Given the description of an element on the screen output the (x, y) to click on. 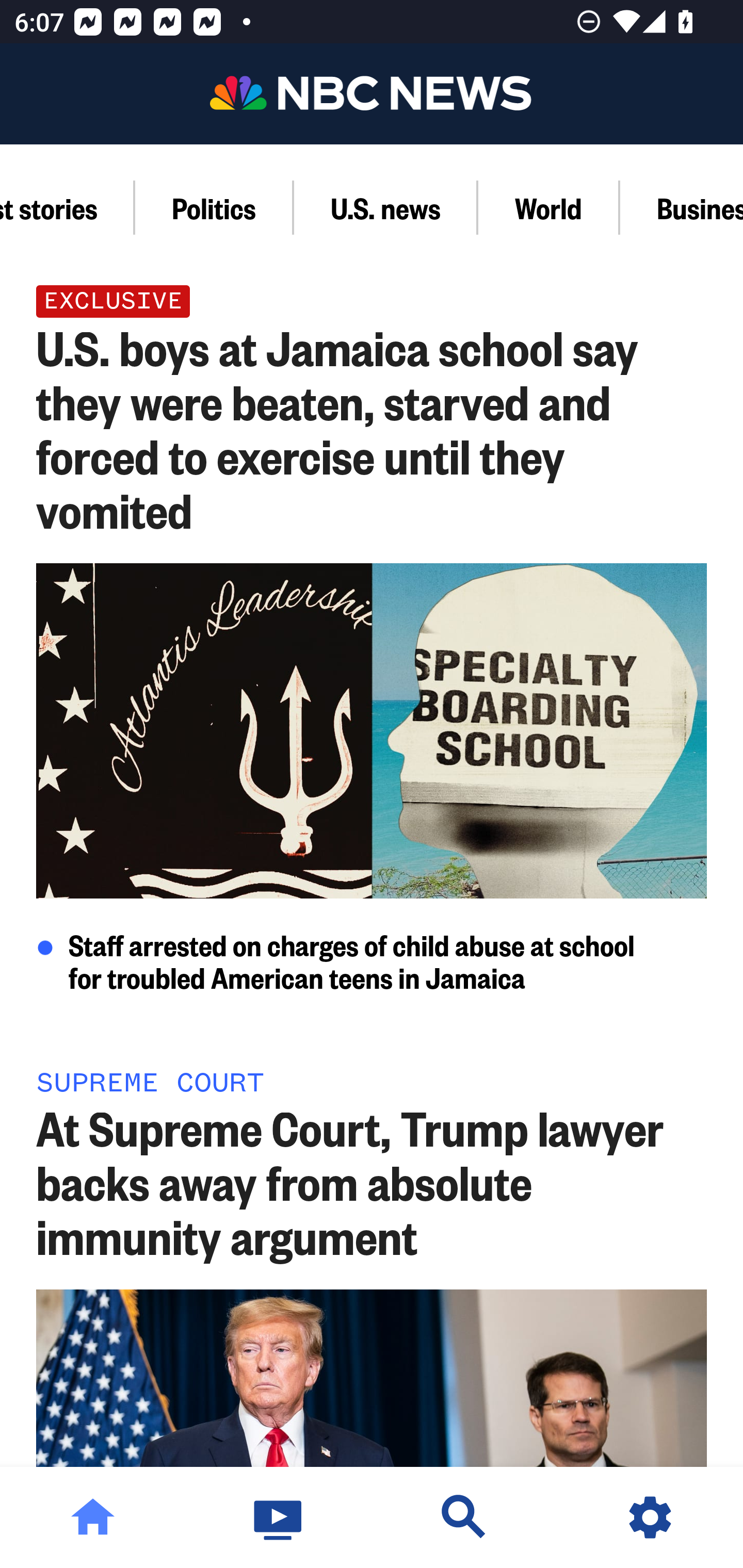
Politics Section,Politics (214, 207)
U.S. news Section,U.S. news (386, 207)
World Section,World (549, 207)
Business Section,Business (681, 207)
Watch (278, 1517)
Discover (464, 1517)
Settings (650, 1517)
